Given the description of an element on the screen output the (x, y) to click on. 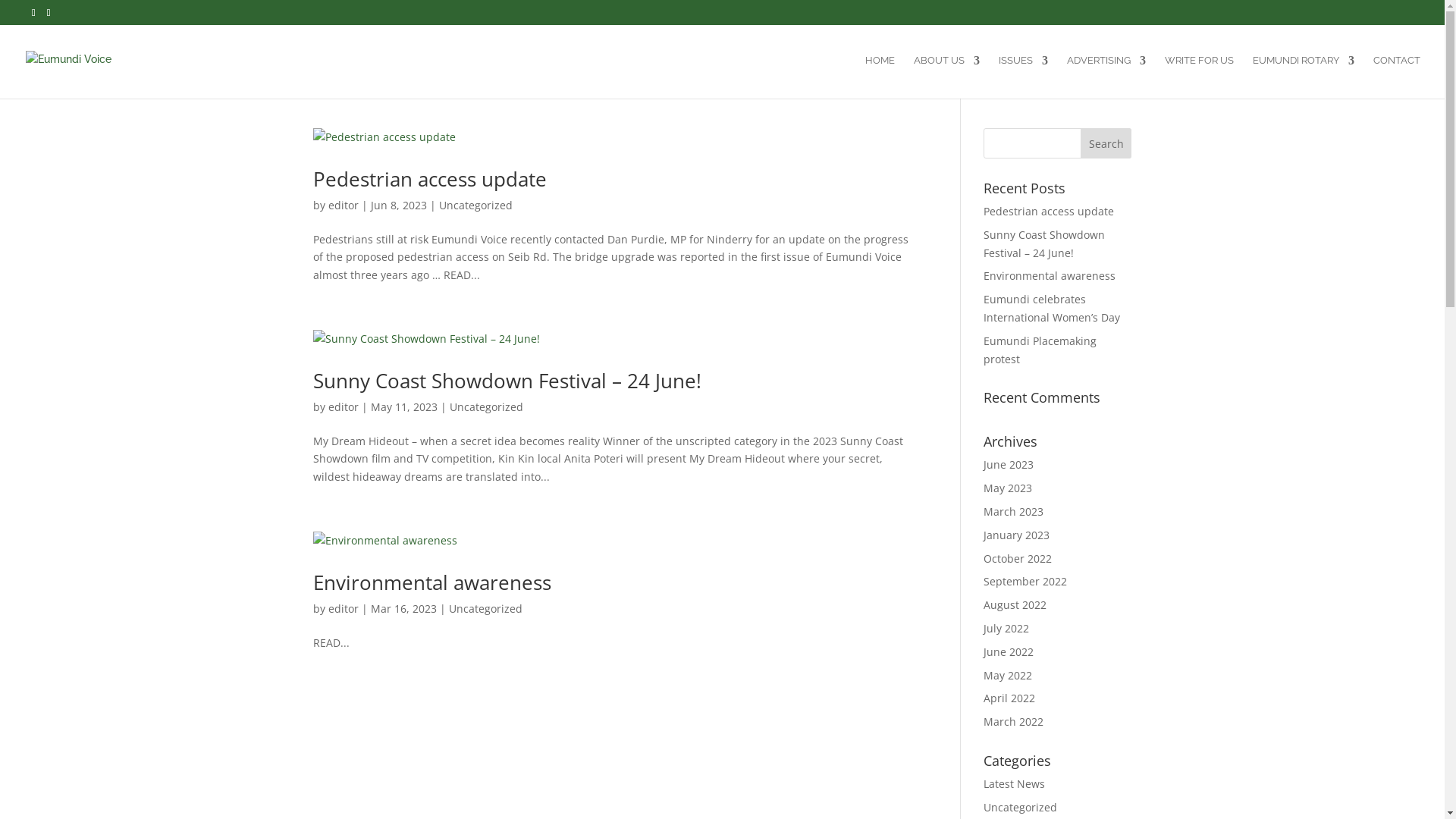
June 2023 Element type: text (1008, 464)
Uncategorized Element type: text (474, 204)
CONTACT Element type: text (1396, 76)
ADVERTISING Element type: text (1105, 76)
Pedestrian access update Element type: text (429, 178)
editor Element type: text (342, 608)
ISSUES Element type: text (1023, 76)
HOME Element type: text (879, 76)
WRITE FOR US Element type: text (1198, 76)
May 2023 Element type: text (1007, 487)
Search Element type: text (1106, 143)
Environmental awareness Element type: text (431, 582)
editor Element type: text (342, 406)
ABOUT US Element type: text (946, 76)
April 2022 Element type: text (1009, 697)
June 2022 Element type: text (1008, 651)
October 2022 Element type: text (1017, 558)
Environmental awareness Element type: text (1049, 275)
Uncategorized Element type: text (1020, 807)
editor Element type: text (342, 204)
Uncategorized Element type: text (485, 608)
March 2023 Element type: text (1013, 511)
July 2022 Element type: text (1006, 628)
January 2023 Element type: text (1016, 534)
Latest News Element type: text (1013, 783)
May 2022 Element type: text (1007, 675)
September 2022 Element type: text (1024, 581)
Pedestrian access update Element type: text (1048, 210)
Uncategorized Element type: text (485, 406)
August 2022 Element type: text (1014, 604)
March 2022 Element type: text (1013, 721)
EUMUNDI ROTARY Element type: text (1303, 76)
Eumundi Placemaking protest Element type: text (1039, 349)
